Given the description of an element on the screen output the (x, y) to click on. 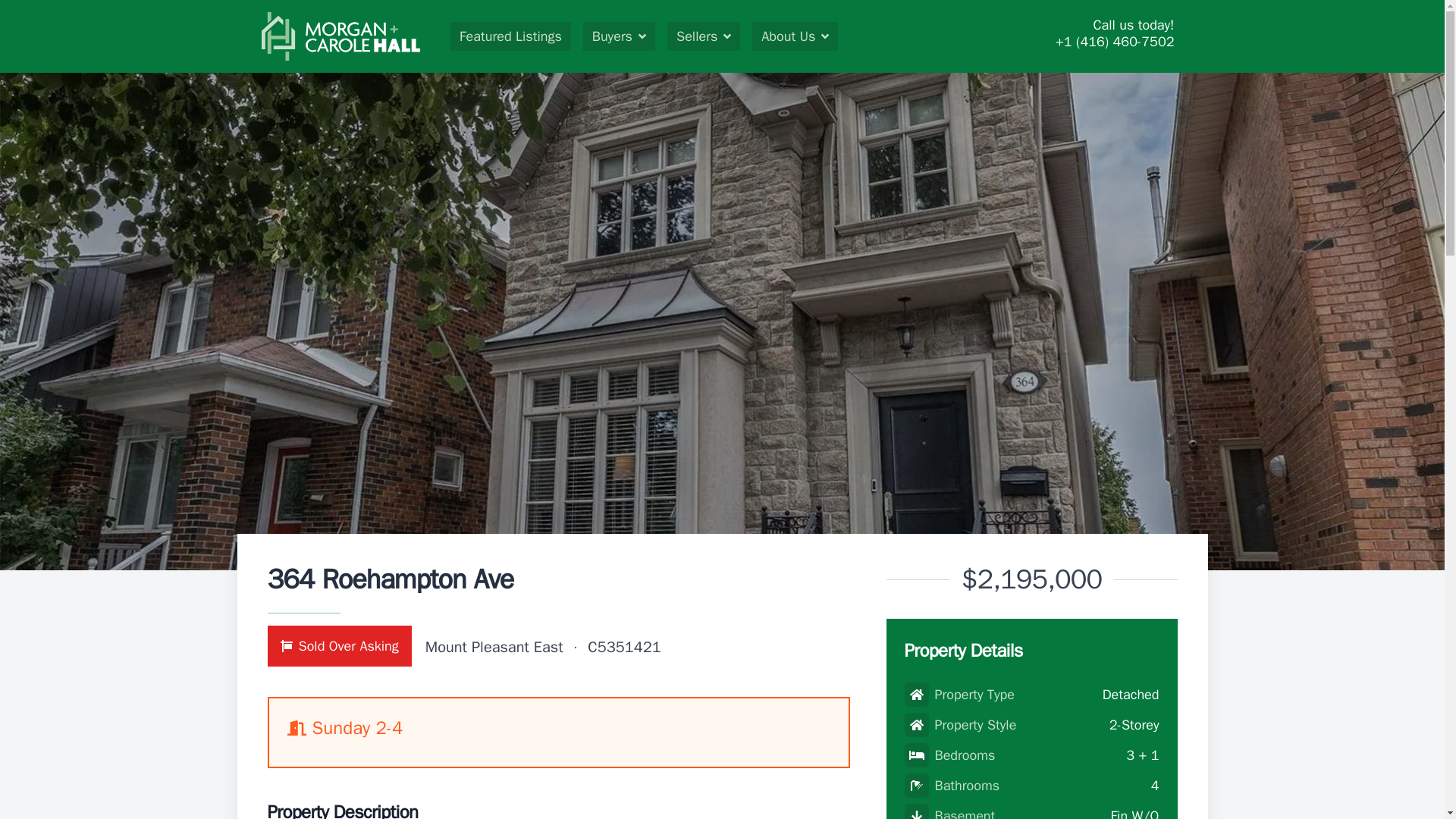
Sellers (702, 36)
About Us (795, 36)
Buyers (619, 36)
Featured Listings (509, 36)
